Given the description of an element on the screen output the (x, y) to click on. 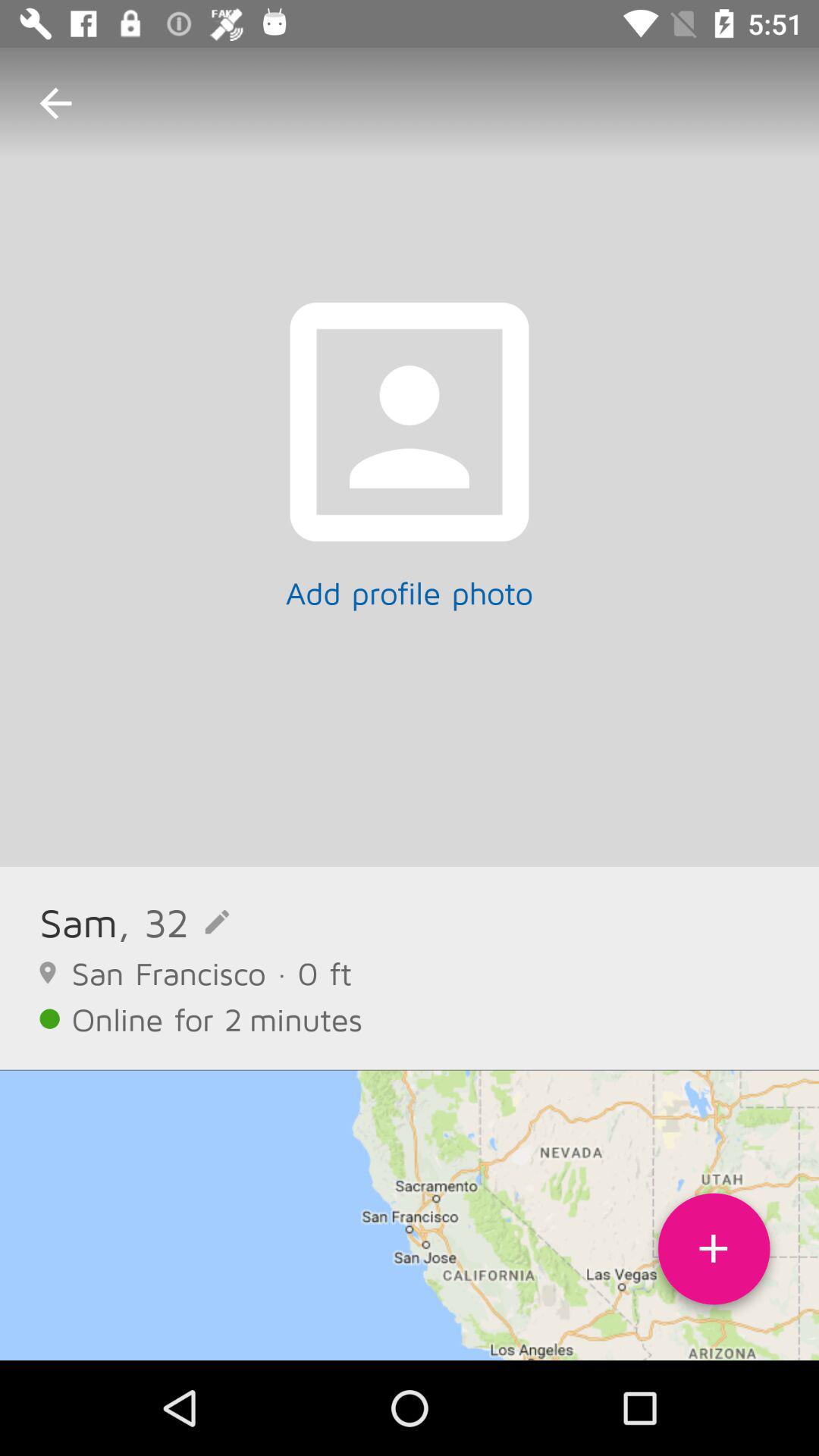
launch the item to the right of sam item (173, 921)
